Given the description of an element on the screen output the (x, y) to click on. 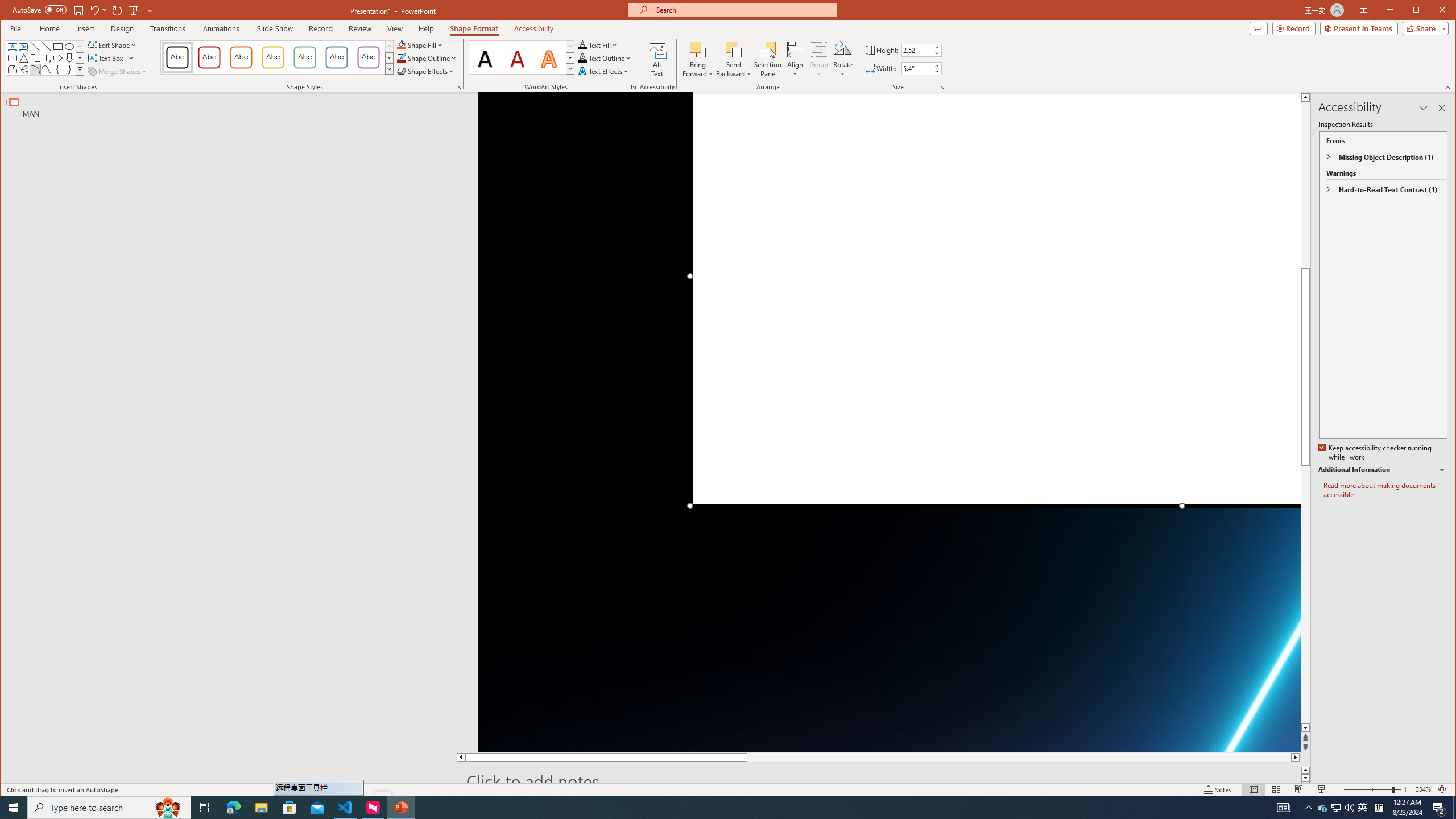
Line Arrow (46, 46)
Draw Horizontal Text Box (106, 57)
Maximize (1432, 11)
Text Box (12, 46)
Colored Outline - Dark Red, Accent 1 (209, 57)
Rectangle: Rounded Corners (12, 57)
Neon laser lights aligned to form a triangle (889, 421)
Text Box (110, 57)
Save (77, 9)
Minimize (1419, 11)
Shape Outline Blue, Accent 1 (400, 57)
Colored Outline - Black, Dark 1 (177, 57)
More (935, 64)
Zoom to Fit  (1441, 789)
Send Backward (733, 48)
